Given the description of an element on the screen output the (x, y) to click on. 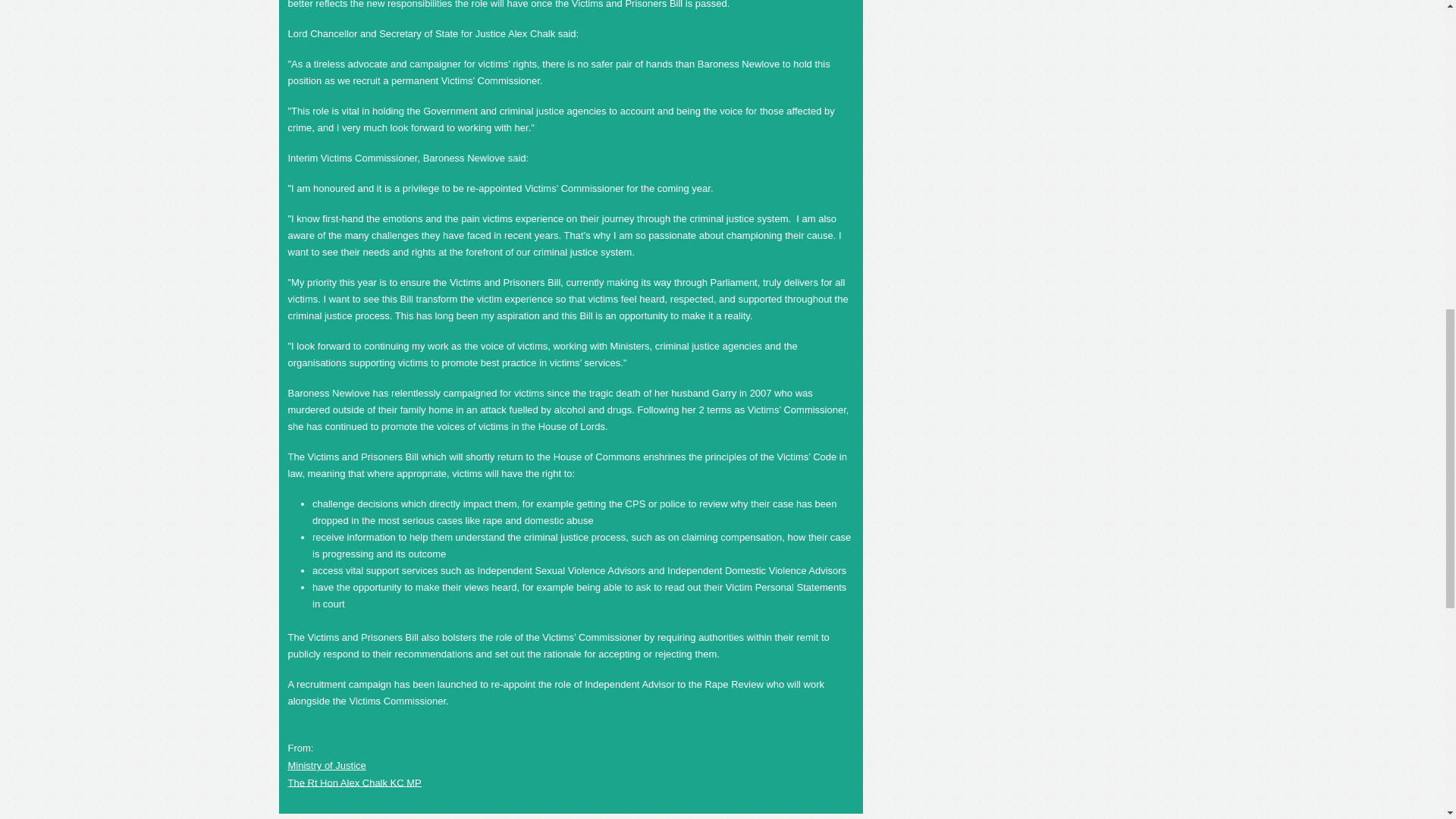
The Rt Hon Alex Chalk KC MP (355, 781)
Ministry of Justice (327, 765)
